Given the description of an element on the screen output the (x, y) to click on. 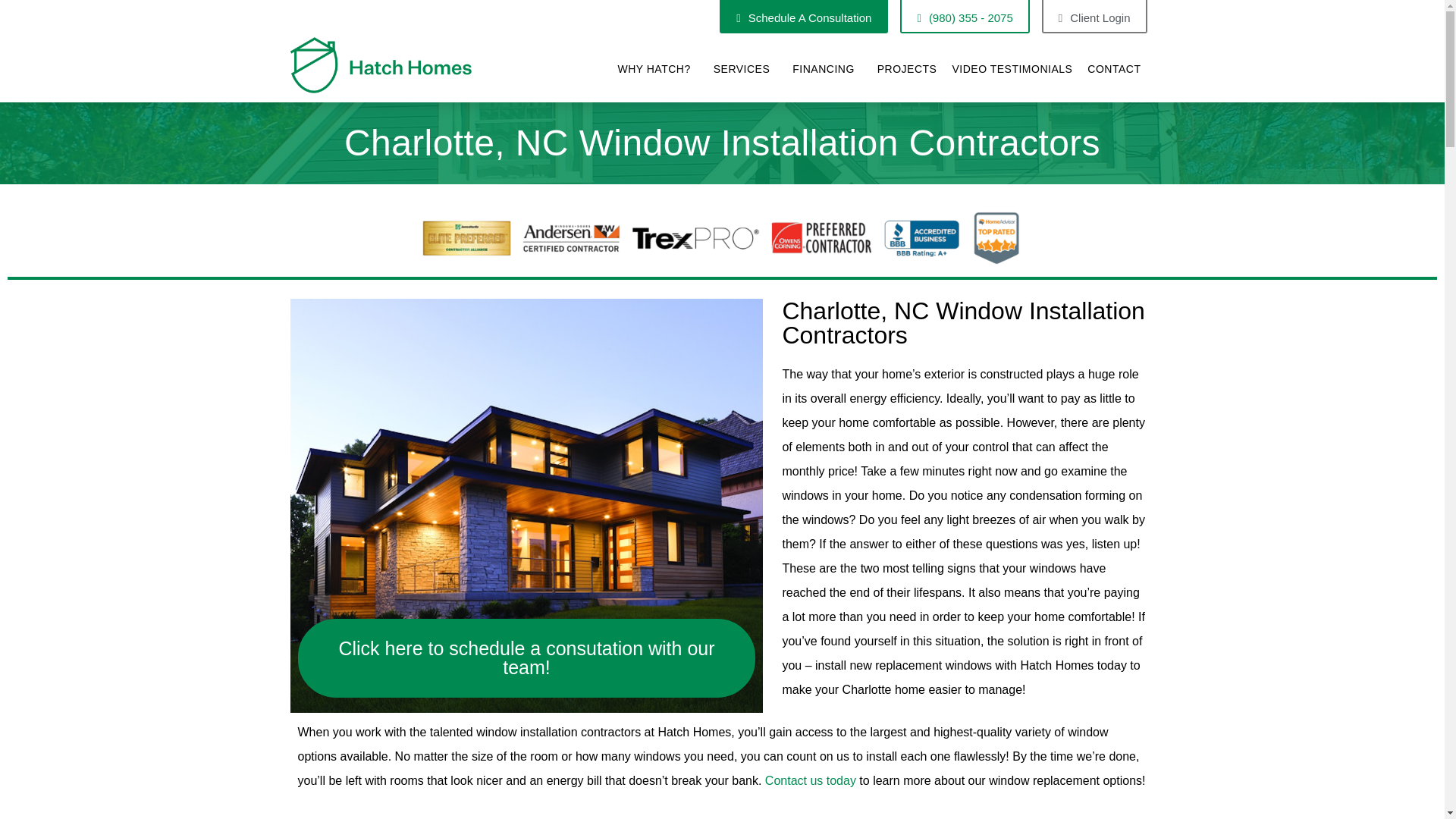
SERVICES (746, 68)
Schedule A Consultation (803, 16)
Client Login (1094, 16)
WHY HATCH? (657, 68)
